Given the description of an element on the screen output the (x, y) to click on. 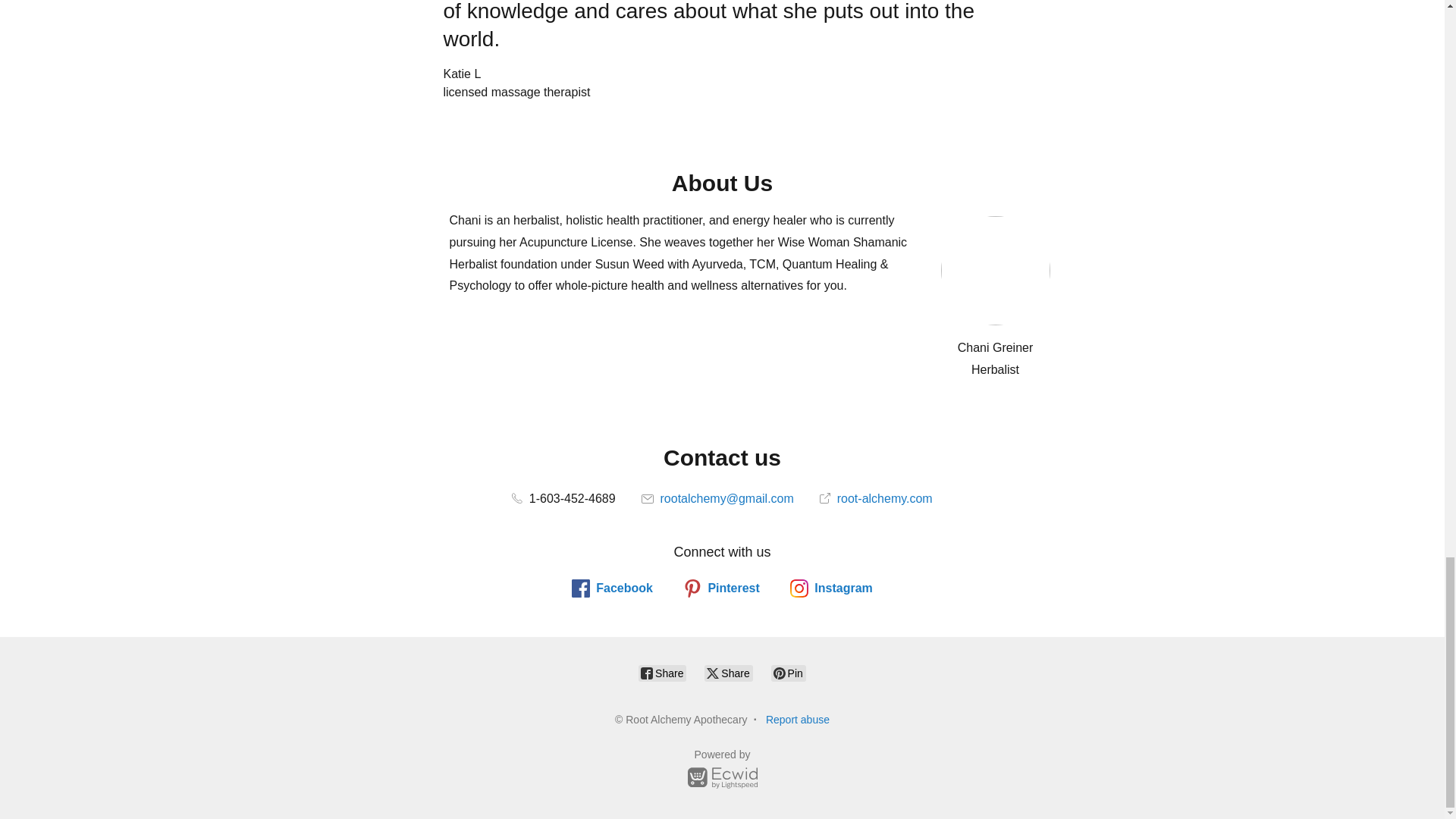
Pinterest (720, 588)
Share (728, 673)
Facebook (612, 588)
Instagram (831, 588)
Powered by (722, 771)
Share (662, 673)
Report abuse (797, 719)
Pin (788, 673)
1-603-452-4689 (563, 498)
root-alchemy.com (875, 498)
